Given the description of an element on the screen output the (x, y) to click on. 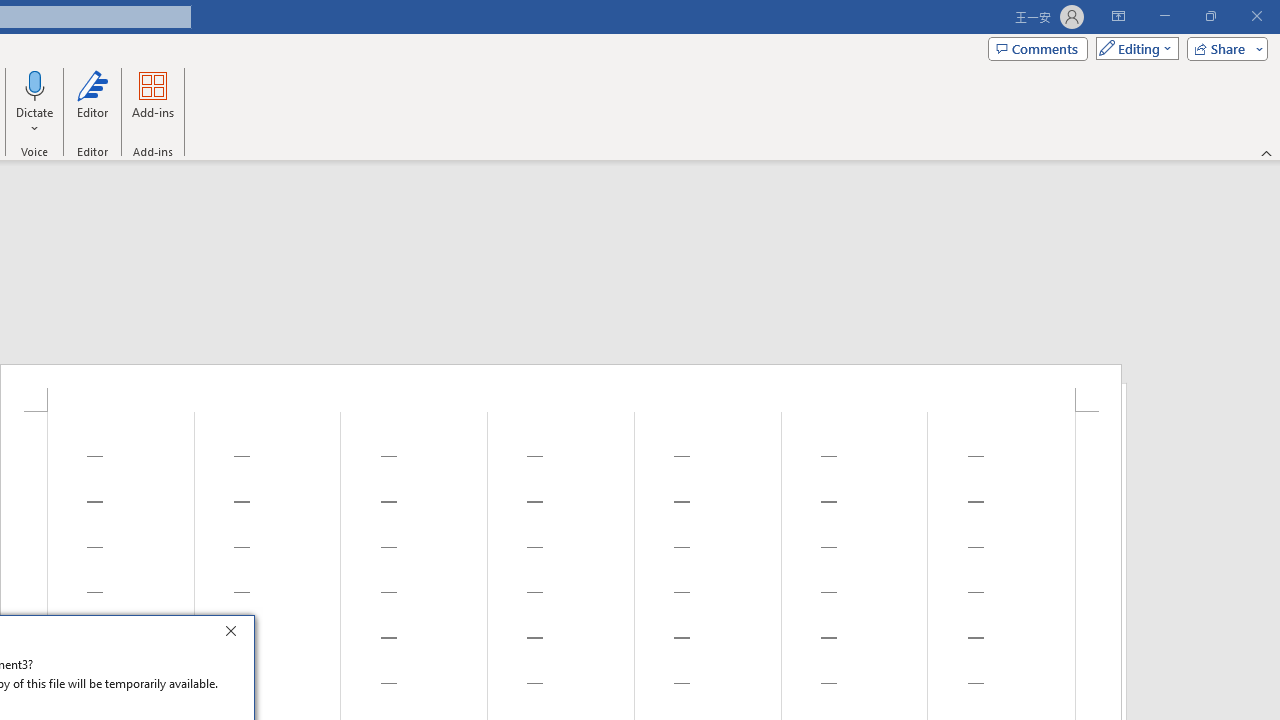
Share (1223, 48)
Dictate (35, 102)
Collapse the Ribbon (1267, 152)
Close (236, 633)
Editor (92, 102)
Header -Section 1- (561, 387)
Ribbon Display Options (1118, 16)
Comments (1038, 48)
Mode (1133, 47)
Minimize (1164, 16)
Restore Down (1210, 16)
Dictate (35, 84)
